Given the description of an element on the screen output the (x, y) to click on. 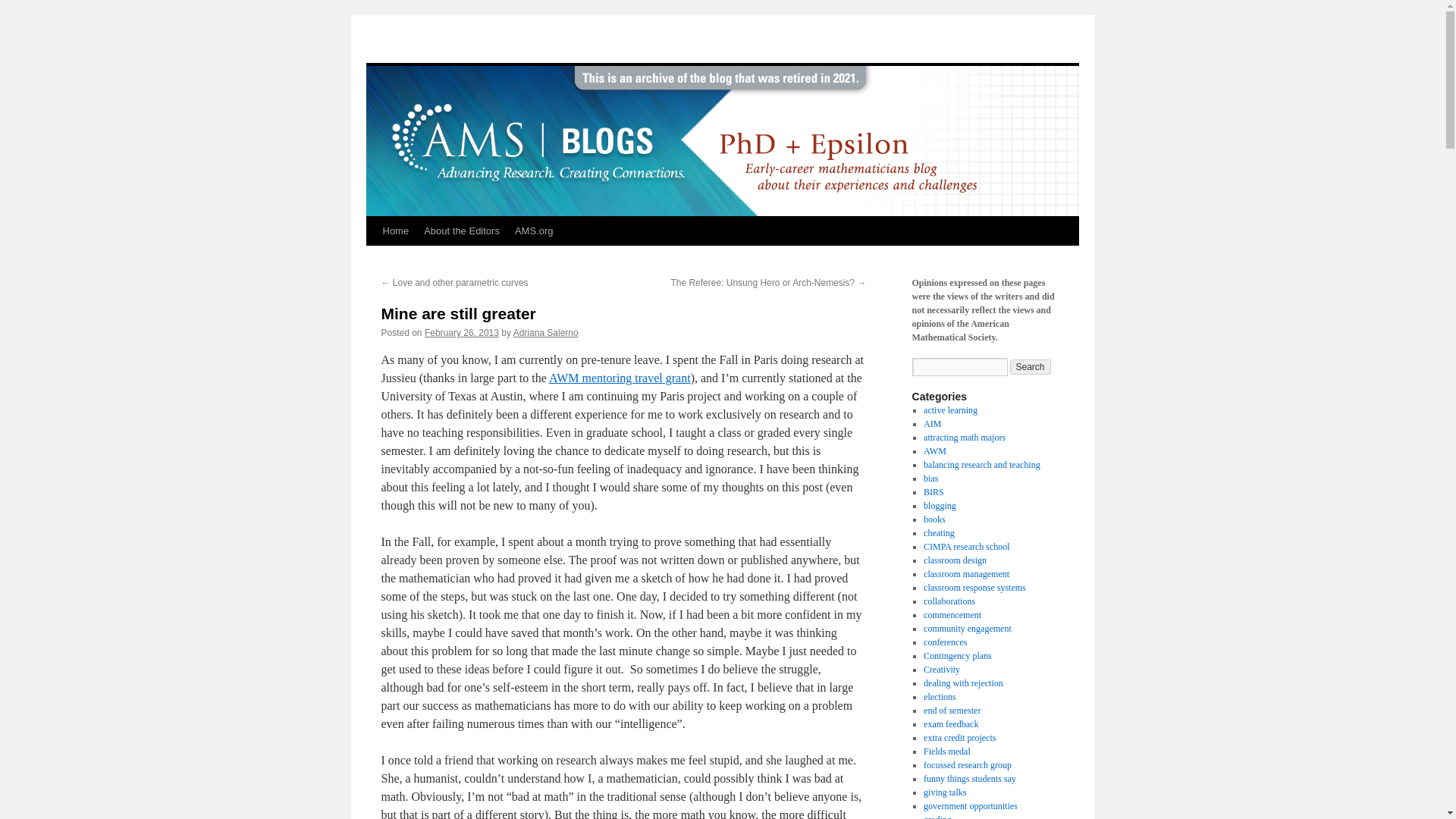
AIM (931, 423)
attracting math majors (964, 437)
cheating (939, 532)
February 26, 2013 (462, 332)
blogging (939, 505)
books (933, 519)
BIRS (933, 491)
About the Editors (461, 231)
5:21 pm (462, 332)
active learning (949, 409)
